Given the description of an element on the screen output the (x, y) to click on. 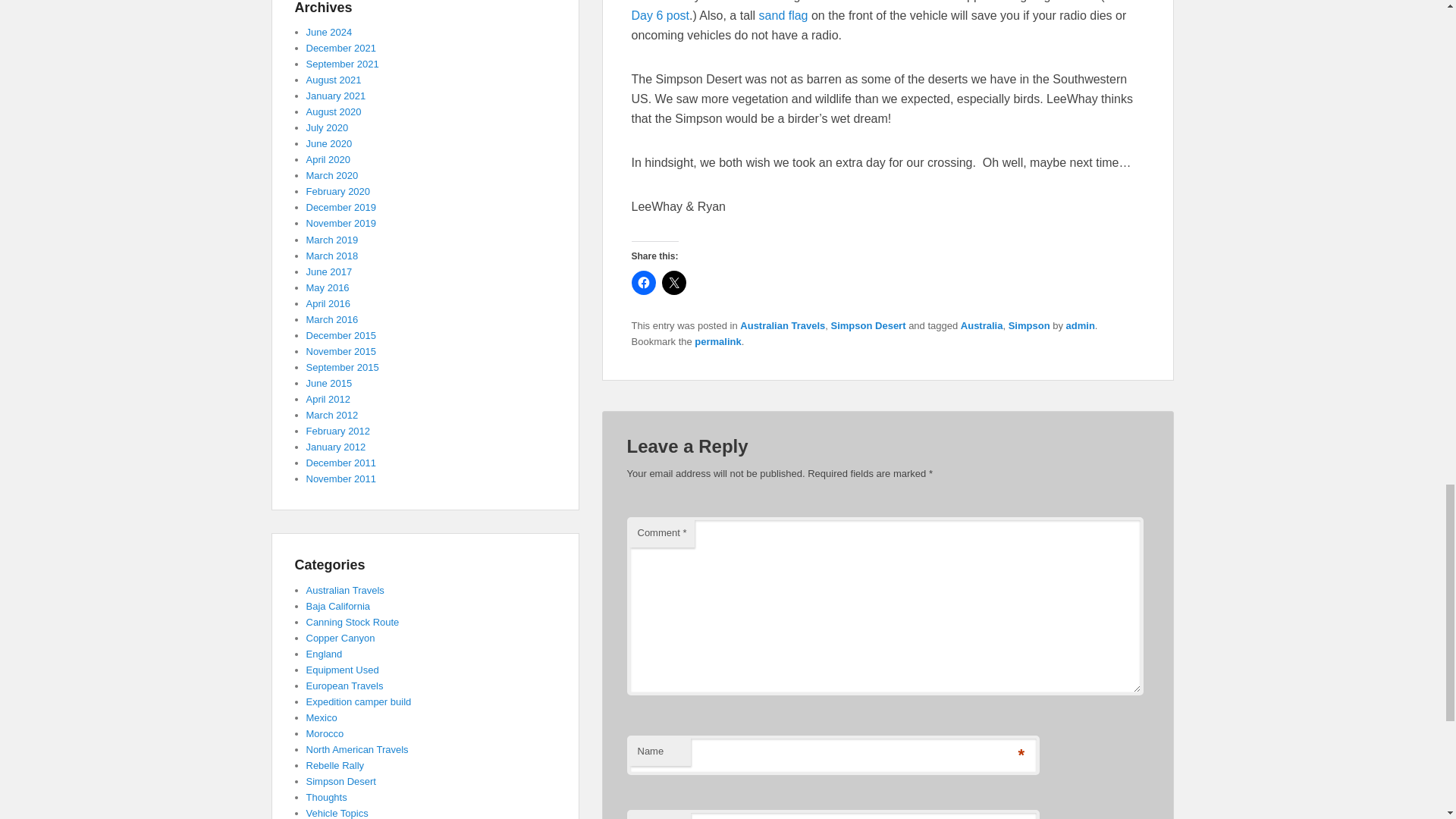
sand flag (783, 15)
Australian Travels (782, 325)
Click to share on X (673, 282)
Simpson Desert (868, 325)
Simpson (1029, 325)
Australia (981, 325)
permalink (717, 341)
Day 6 post (659, 15)
admin (1079, 325)
Click to share on Facebook (642, 282)
